Given the description of an element on the screen output the (x, y) to click on. 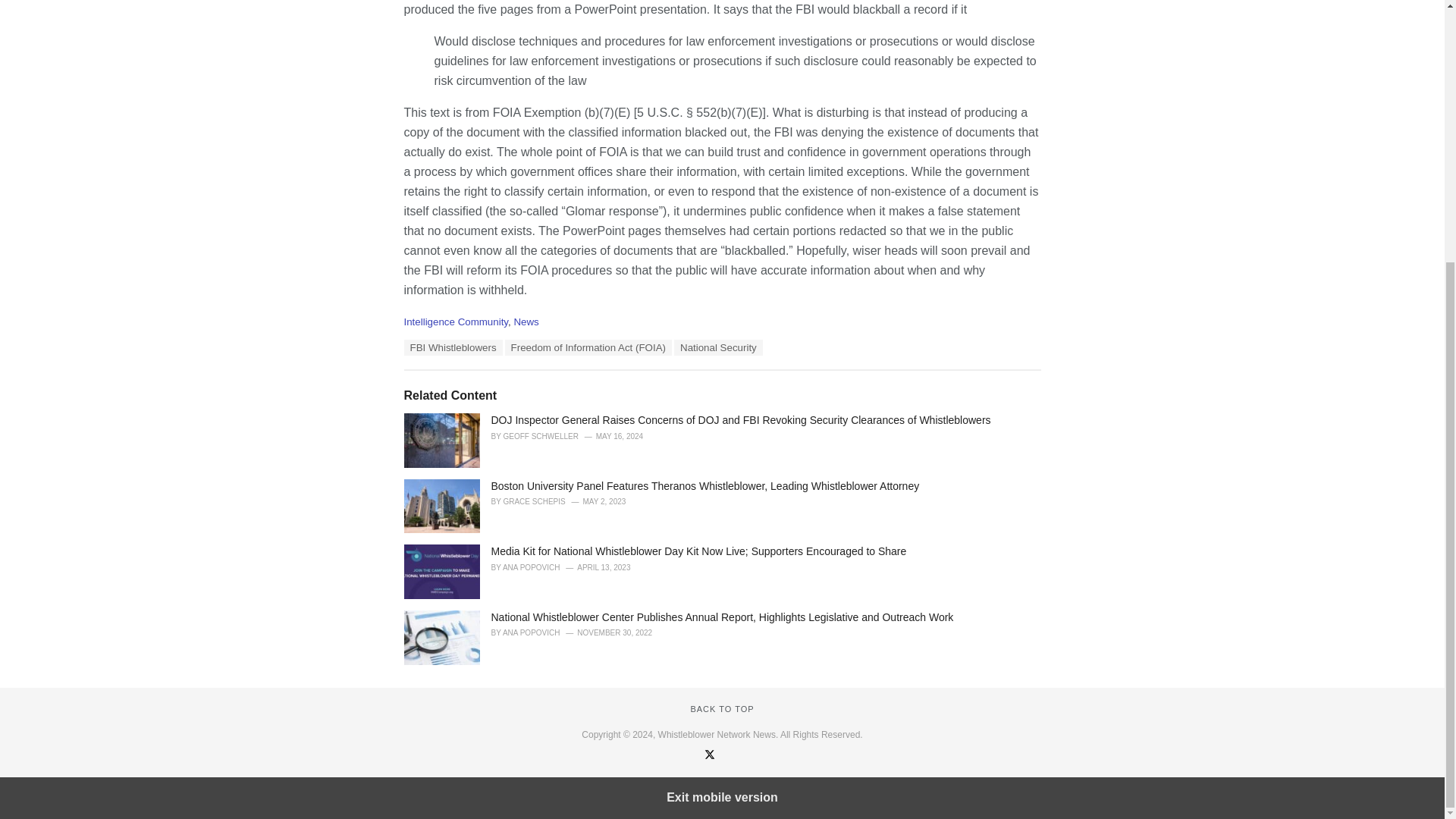
FBI Whistleblowers (452, 347)
National Security (718, 347)
Intelligence Community (455, 321)
News (525, 321)
BACK TO TOP (722, 708)
